Given the description of an element on the screen output the (x, y) to click on. 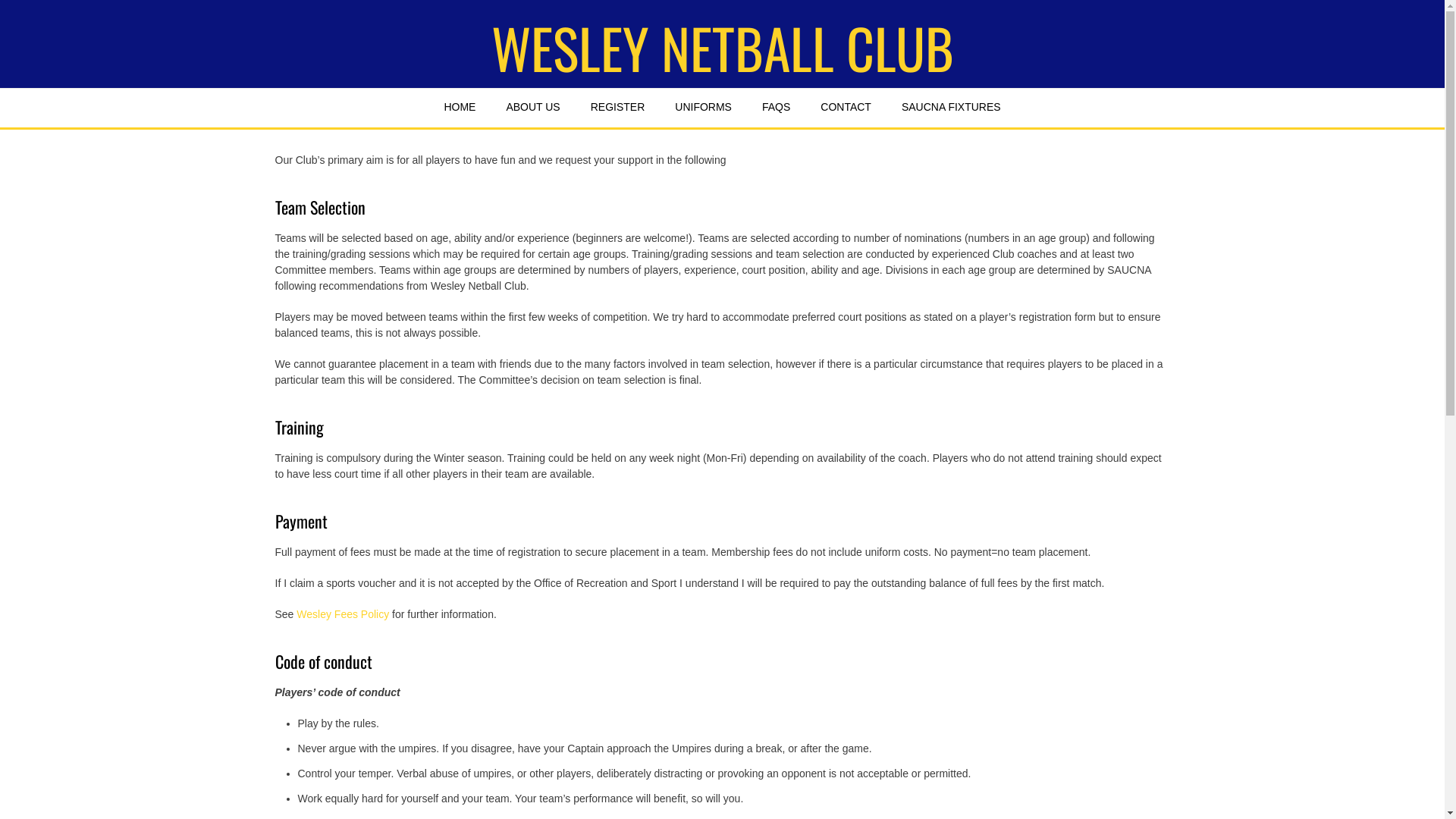
HOME Element type: text (459, 107)
ABOUT US Element type: text (532, 107)
FAQS Element type: text (775, 107)
UNIFORMS Element type: text (702, 107)
SAUCNA FIXTURES Element type: text (951, 107)
Wesley Fees Policy Element type: text (342, 614)
WESLEY NETBALL CLUB Element type: text (722, 47)
REGISTER Element type: text (617, 107)
CONTACT Element type: text (845, 107)
